Given the description of an element on the screen output the (x, y) to click on. 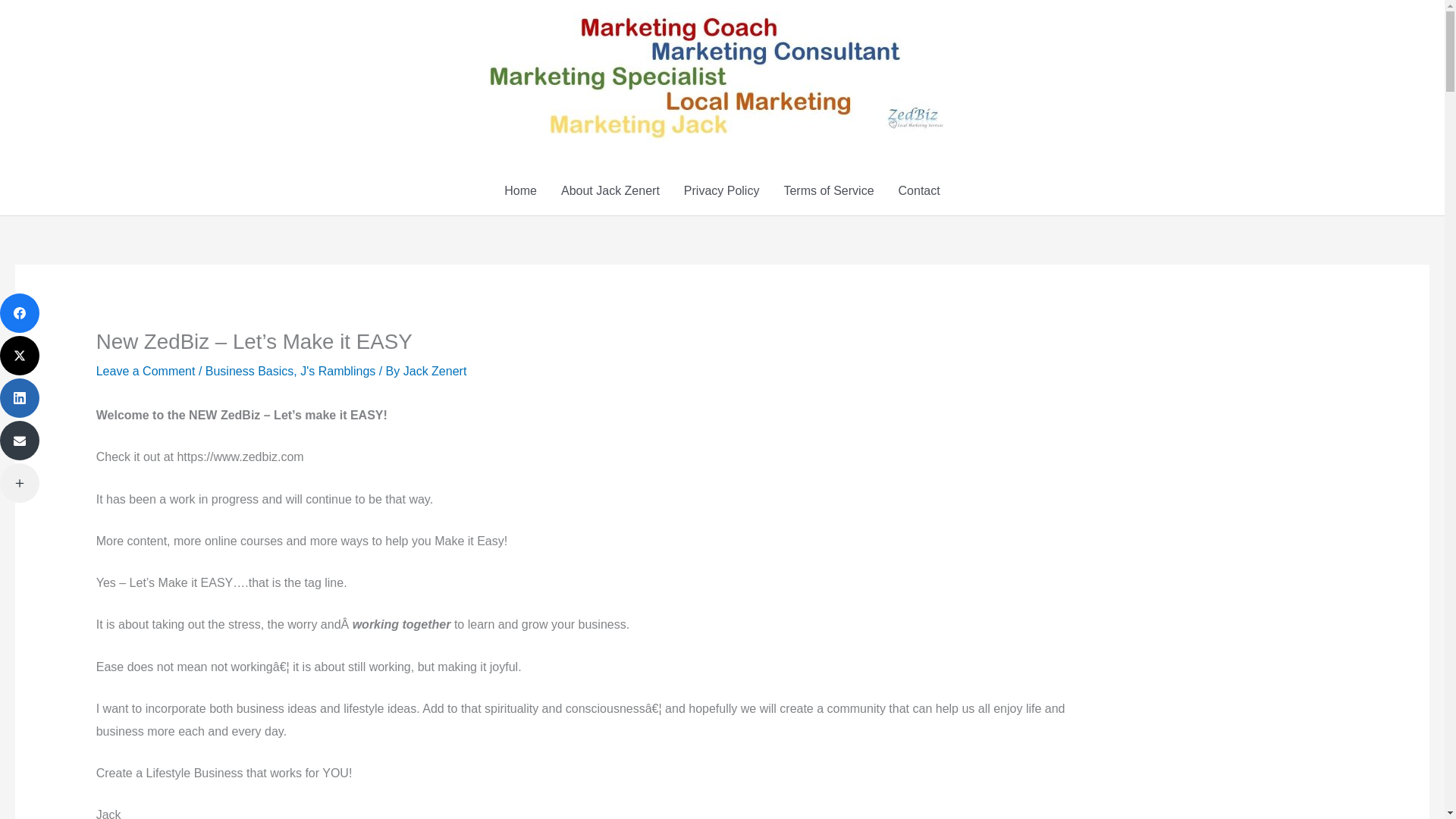
Jack Zenert (435, 370)
View all posts by Jack Zenert (435, 370)
Contact (919, 191)
Privacy Policy (721, 191)
About Jack Zenert (609, 191)
J's Ramblings (337, 370)
Business Basics (249, 370)
Home (520, 191)
Leave a Comment (145, 370)
Terms of Service (828, 191)
